Given the description of an element on the screen output the (x, y) to click on. 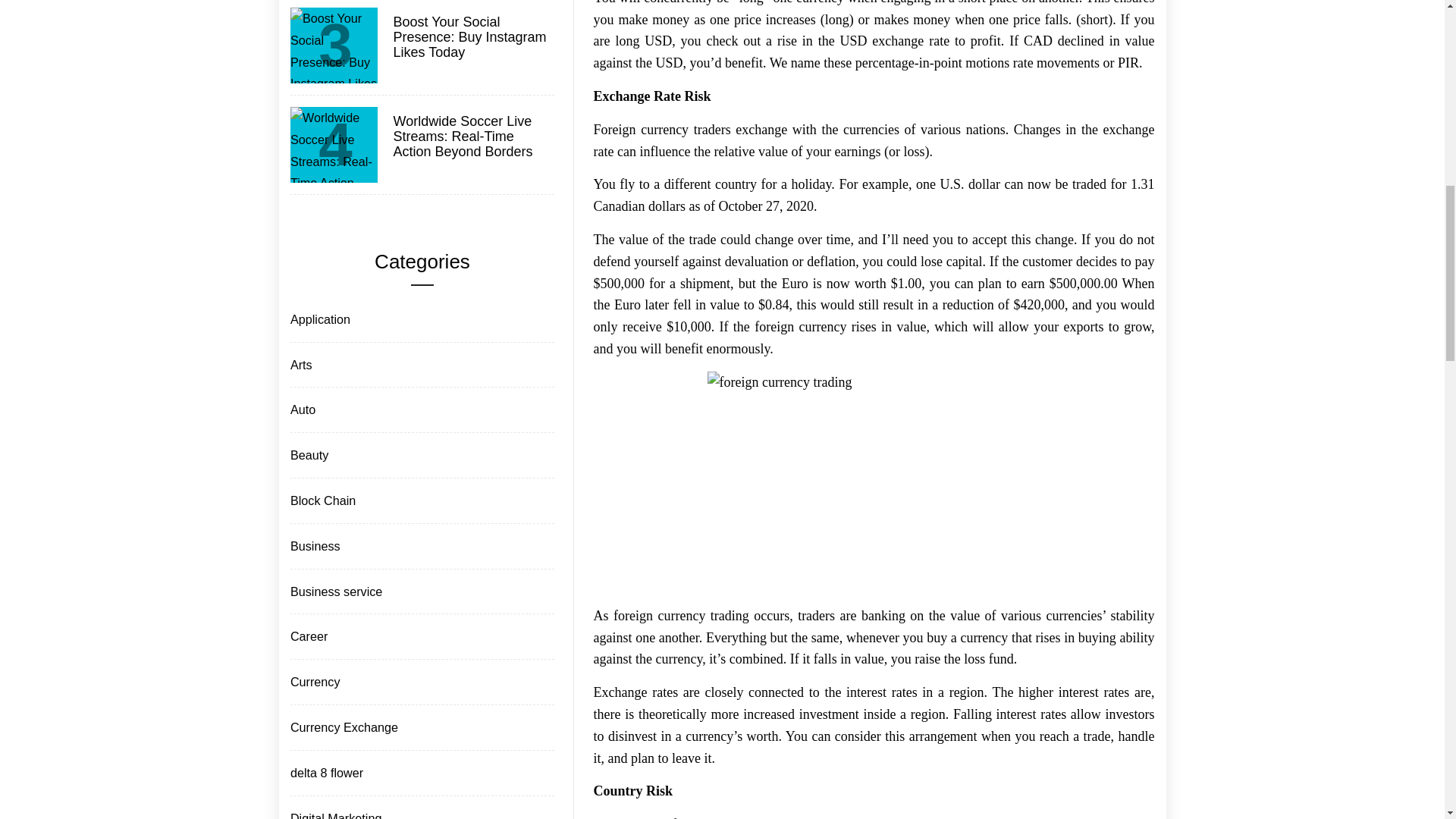
Auto (300, 409)
Boost Your Social Presence: Buy Instagram Likes Today (471, 37)
Business (313, 546)
Currency (313, 681)
Career (307, 636)
Business service (334, 591)
Application (318, 319)
Beauty (307, 455)
Block Chain (321, 500)
Arts (299, 364)
